Given the description of an element on the screen output the (x, y) to click on. 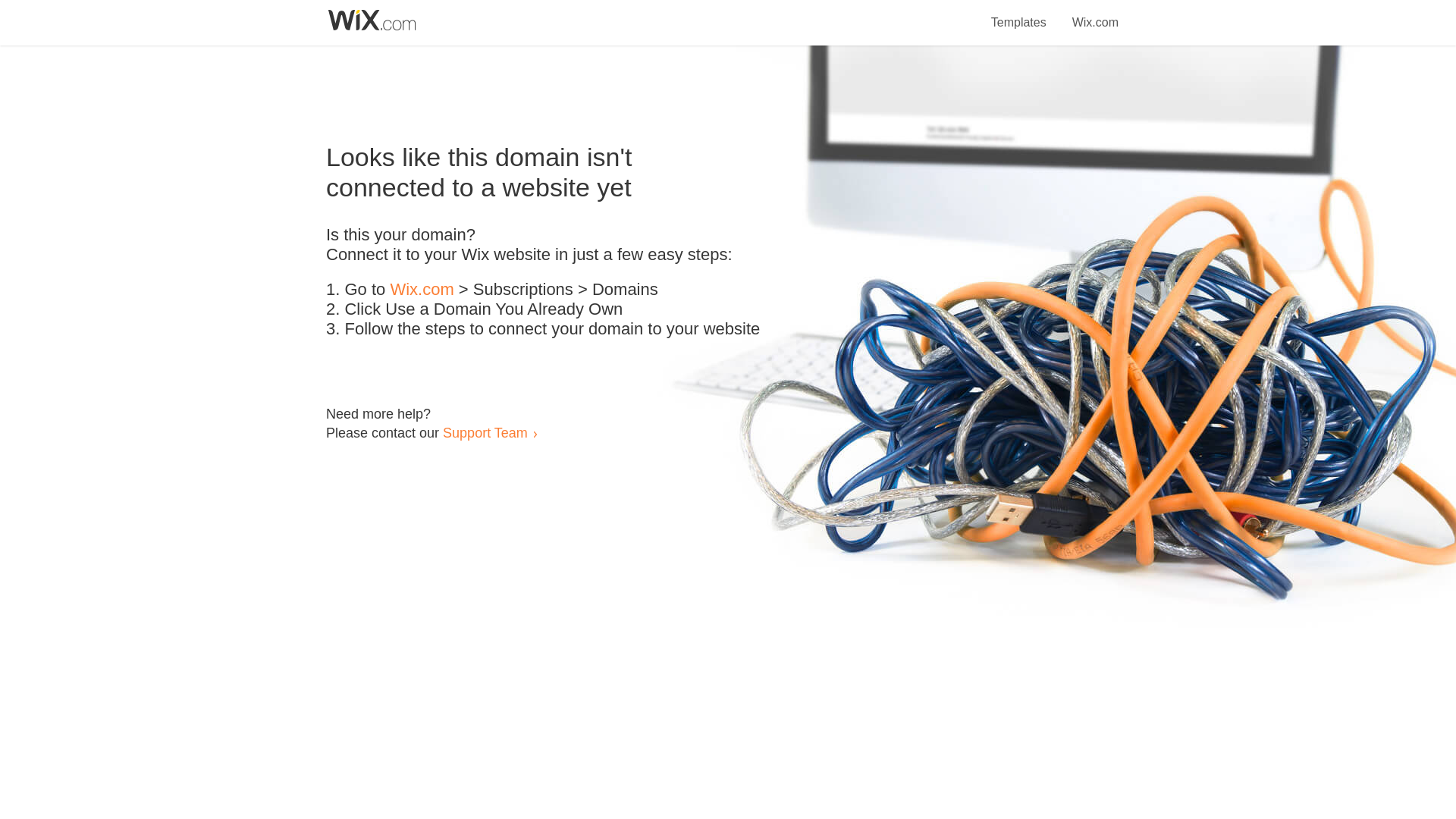
Wix.com (1095, 14)
Wix.com (421, 289)
Support Team (484, 432)
Templates (1018, 14)
